Given the description of an element on the screen output the (x, y) to click on. 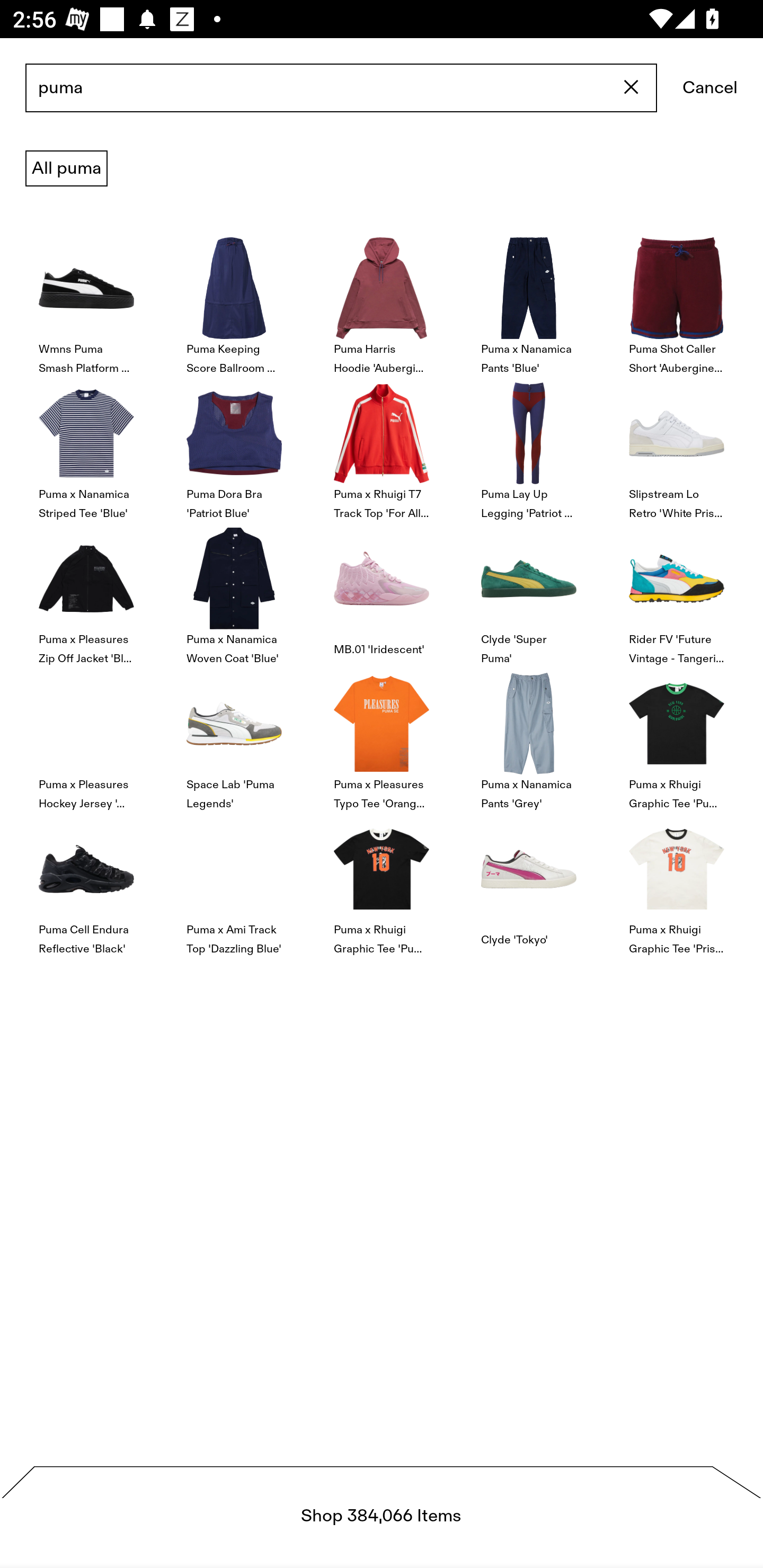
puma (340, 88)
Cancel (709, 88)
Clear text (631, 87)
All puma (66, 168)
Wmns Puma Smash Platform SD 'Black White' (86, 303)
Puma Harris Hoodie 'Aubergine' (381, 303)
Puma x Nanamica Pants 'Blue' (528, 303)
Puma Shot Caller Short 'Aubergine/Patriot Blue' (676, 303)
Puma x Nanamica Striped Tee 'Blue' (86, 448)
Puma Dora Bra 'Patriot Blue' (233, 448)
Puma x Rhuigi T7 Track Top 'For All Time Red' (381, 448)
Puma Lay Up Legging 'Patriot Blue' (528, 448)
Slipstream Lo Retro 'White Pristine' (676, 448)
Puma x Pleasures Zip Off Jacket 'Black' (86, 593)
Puma x Nanamica Woven Coat 'Blue' (233, 593)
MB.01 'Iridescent' (381, 593)
Clyde 'Super Puma' (528, 593)
Rider FV 'Future Vintage - Tangerine Puma Black' (676, 593)
Puma x Pleasures Hockey Jersey 'White' (86, 739)
Space Lab 'Puma Legends' (233, 739)
Puma x Pleasures Typo Tee 'Orange Glo' (381, 739)
Puma x Nanamica Pants 'Grey' (528, 739)
Puma x Rhuigi Graphic Tee 'Puma Black' (676, 739)
Puma Cell Endura Reflective 'Black' (86, 884)
Puma x Ami Track Top 'Dazzling Blue' (233, 884)
Puma x Rhuigi Graphic Tee 'Puma Black' (381, 884)
Clyde 'Tokyo' (528, 884)
Puma x Rhuigi Graphic Tee 'Pristine' (676, 884)
Shop 384,066 Items (381, 1517)
